Given the description of an element on the screen output the (x, y) to click on. 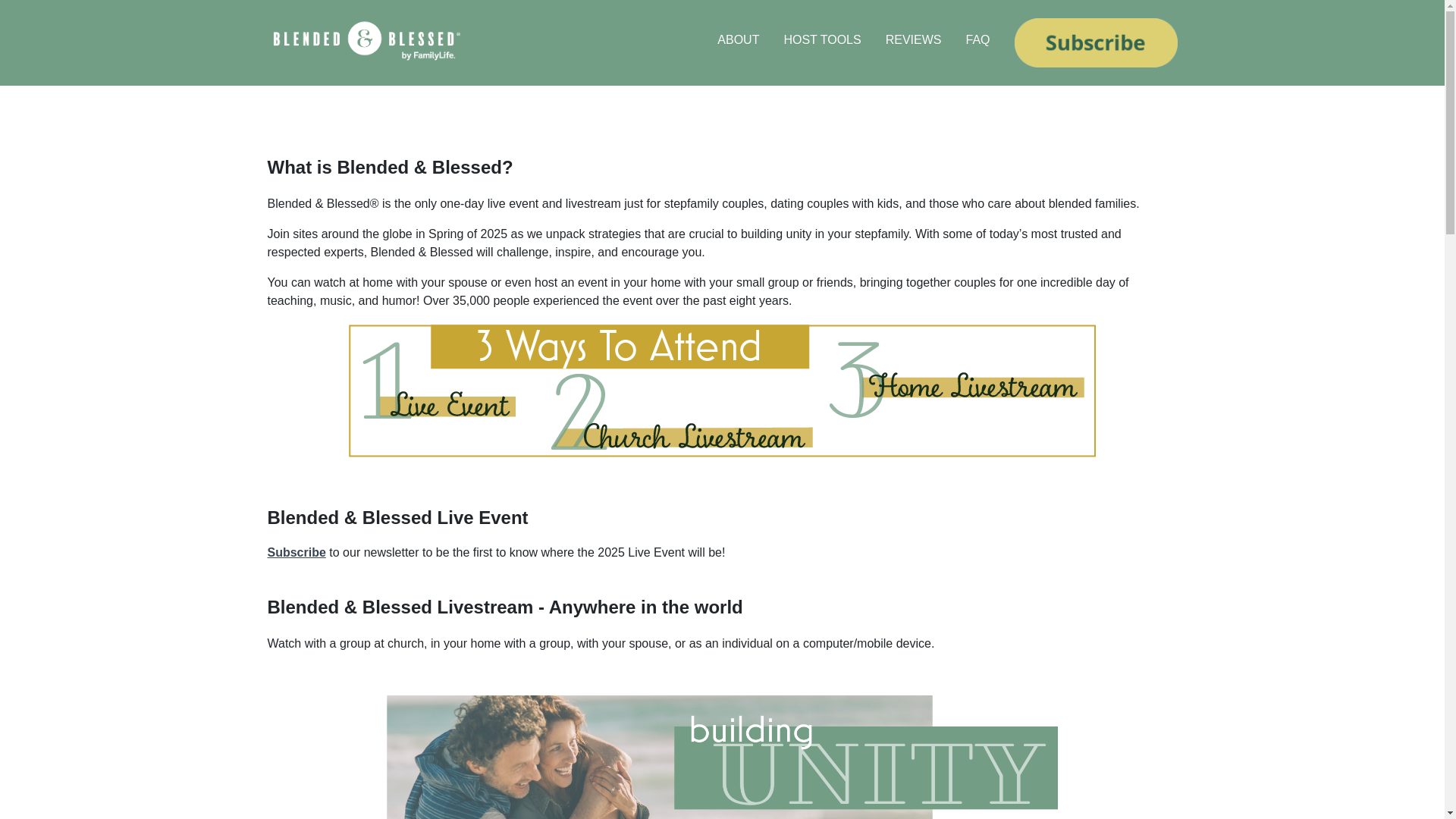
About (147, 56)
REVIEWS (913, 39)
Host Tools (166, 94)
Menu (166, 18)
FAQ (977, 39)
HOST TOOLS (821, 39)
ABOUT (737, 39)
FAQ (166, 170)
Subscribe (295, 552)
Reviews (147, 132)
